Given the description of an element on the screen output the (x, y) to click on. 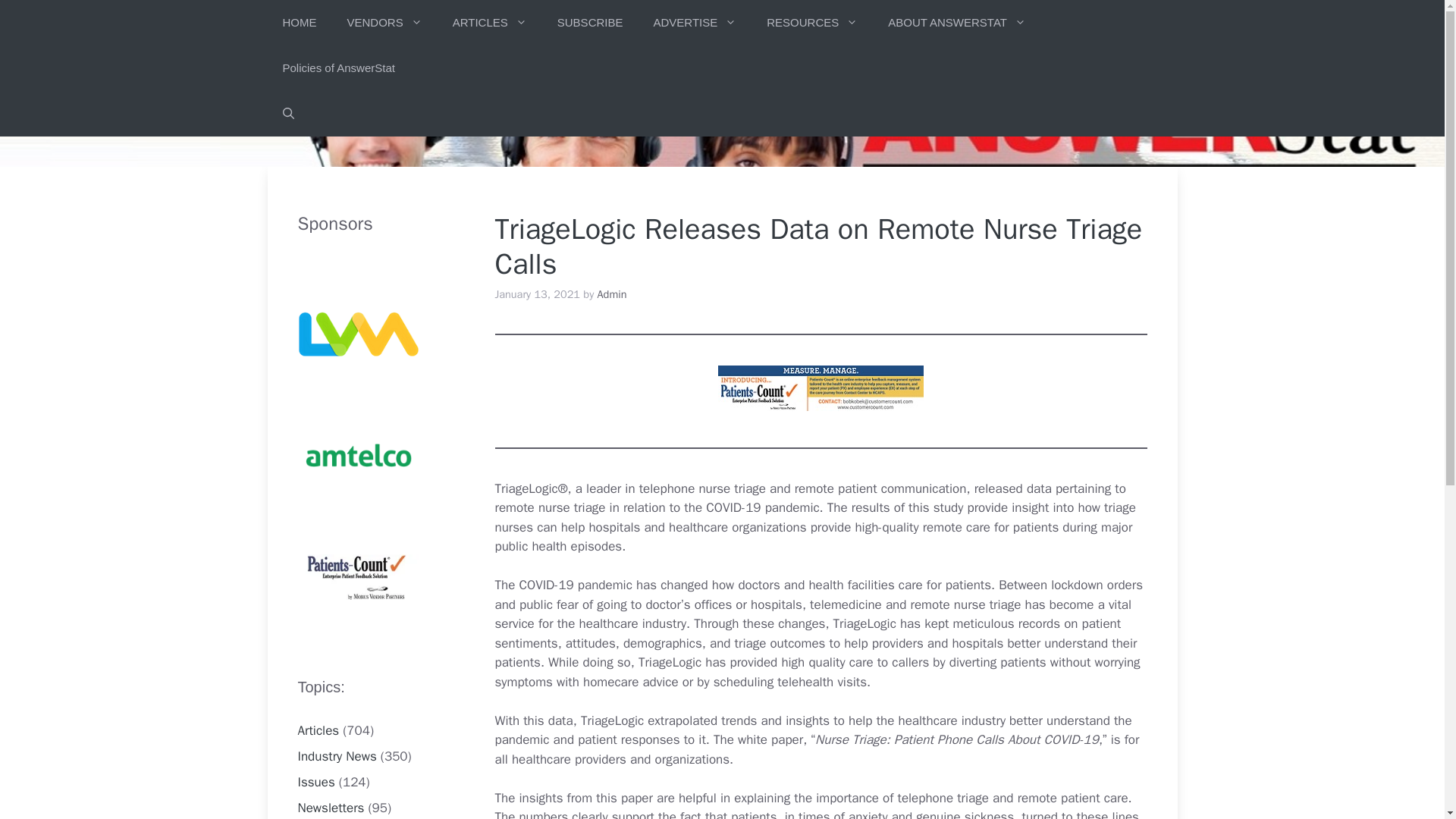
HOME (298, 22)
ARTICLES (489, 22)
ABOUT ANSWERSTAT (956, 22)
View all posts by Admin (611, 294)
SUBSCRIBE (590, 22)
RESOURCES (811, 22)
VENDORS (384, 22)
Policies of AnswerStat (337, 67)
ADVERTISE (694, 22)
